Given the description of an element on the screen output the (x, y) to click on. 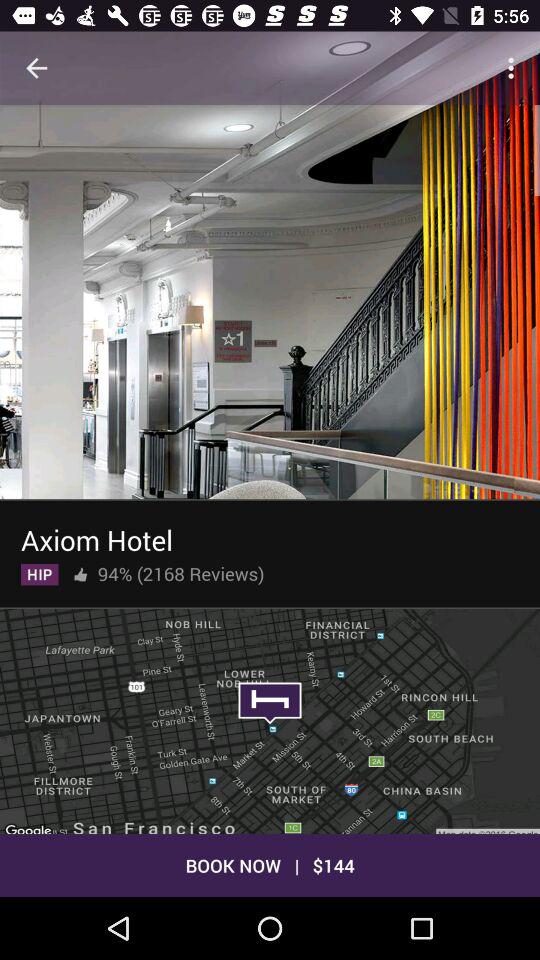
tap the item above the book now   |   $144 (270, 719)
